Given the description of an element on the screen output the (x, y) to click on. 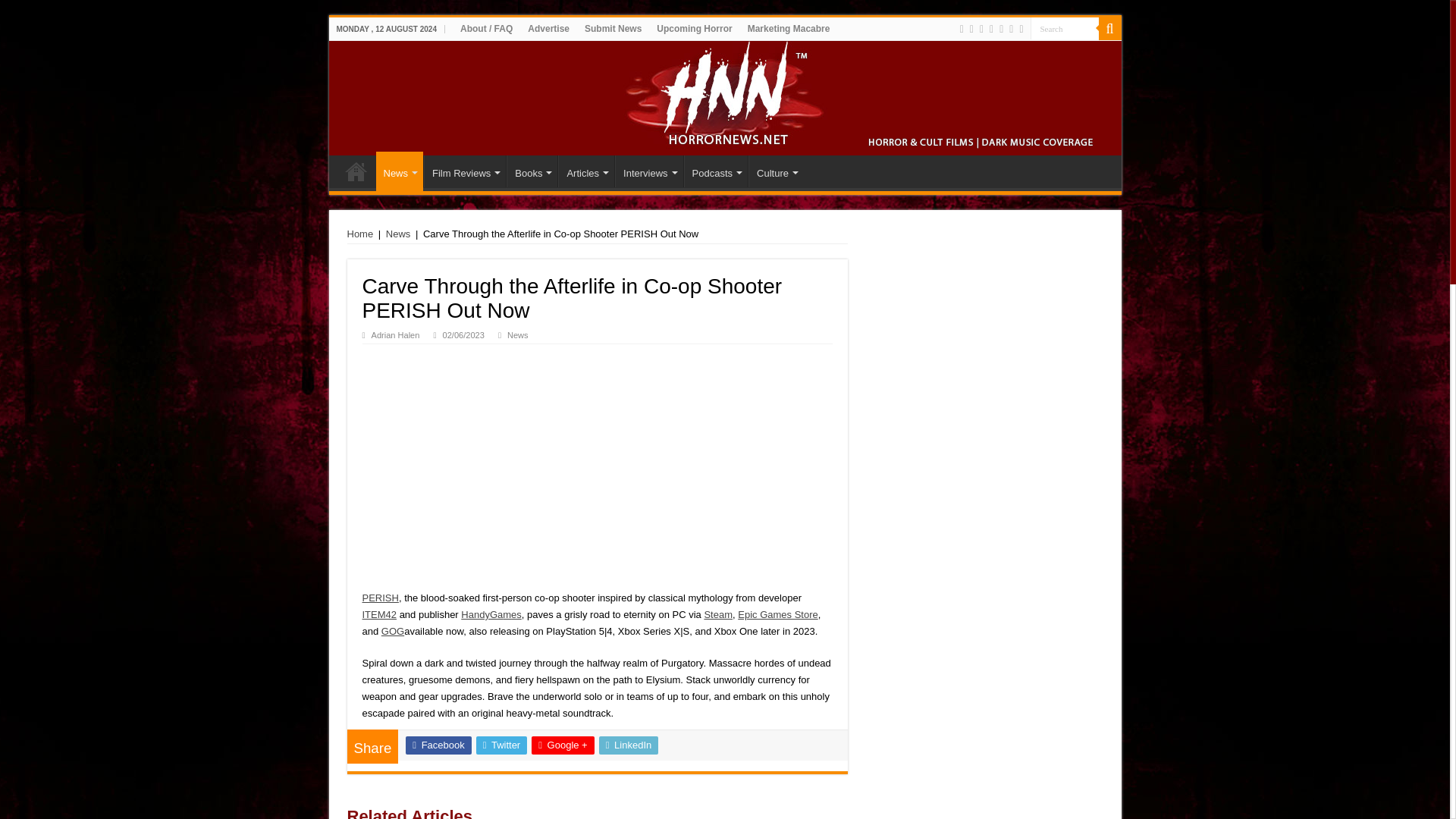
Search (1063, 28)
Submit News to Horrornews.net (612, 28)
Advertise (547, 28)
Advertise on HorrorNews.net (547, 28)
Search (1063, 28)
Upcoming Horror (694, 28)
Submit News (612, 28)
Search (1109, 28)
Film Reviews (464, 171)
Search (1063, 28)
